Given the description of an element on the screen output the (x, y) to click on. 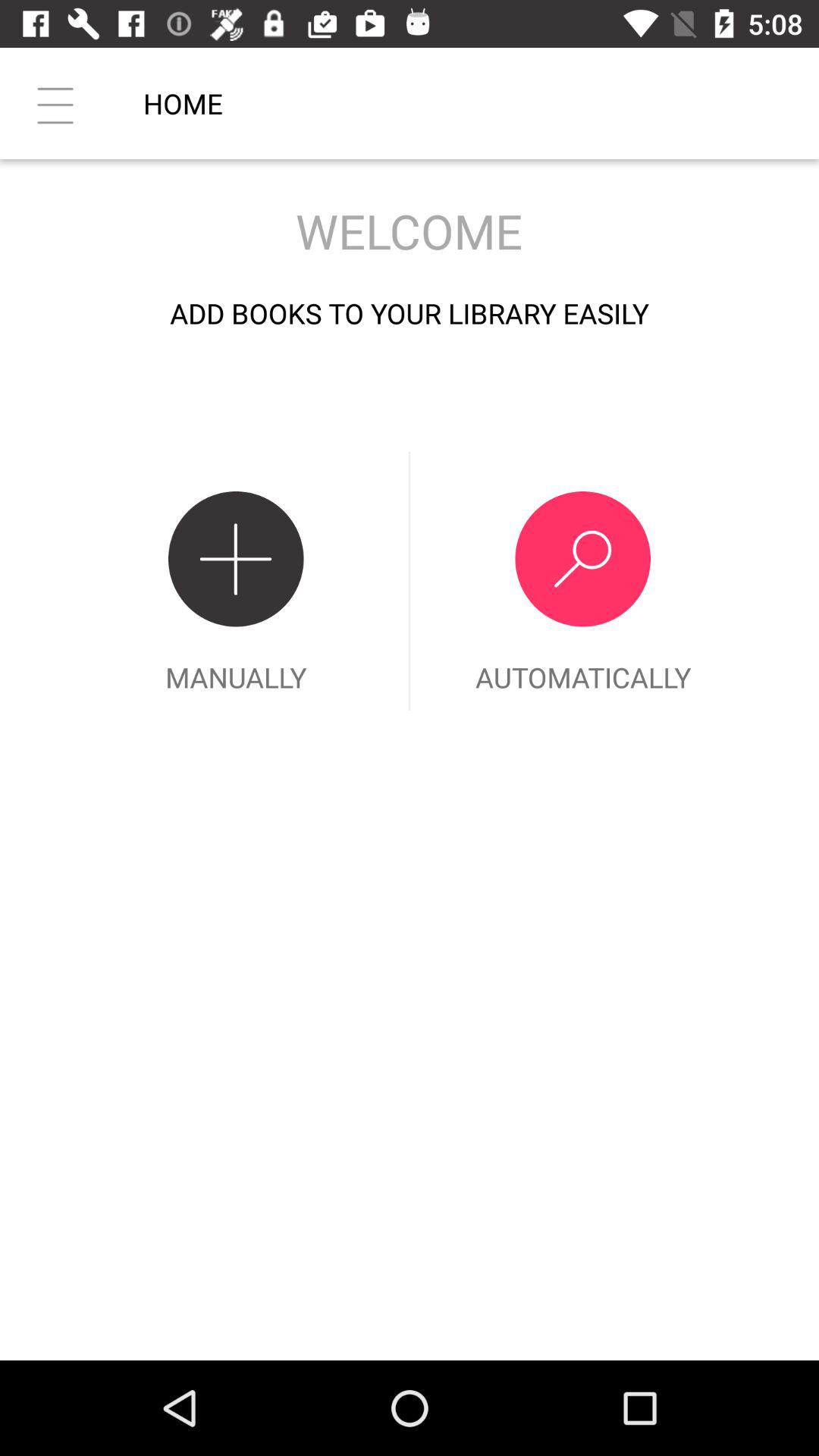
turn off item next to home item (55, 103)
